Given the description of an element on the screen output the (x, y) to click on. 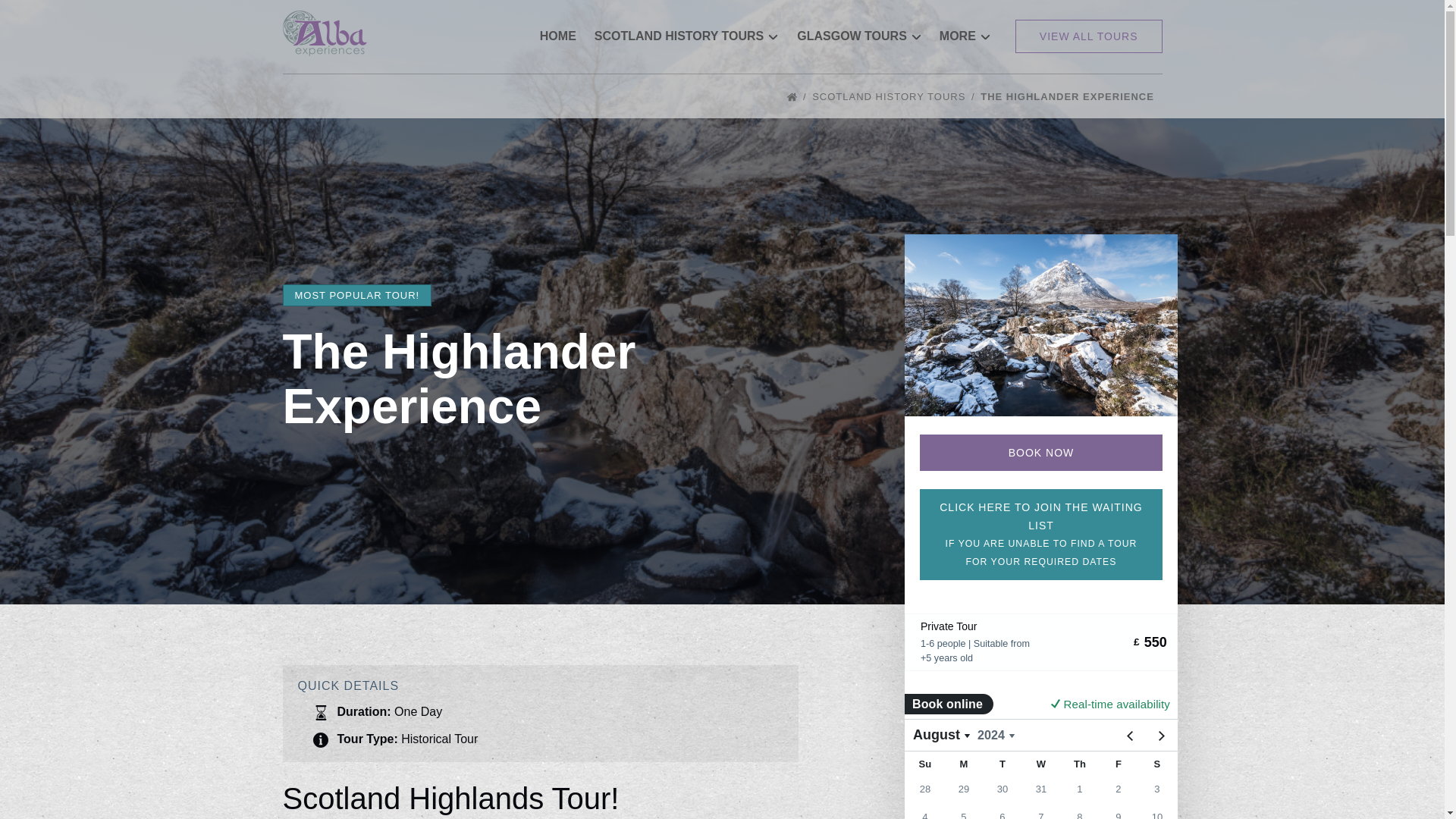
MORE (965, 35)
Hour Glass (320, 712)
THE HIGHLANDER EXPERIENCE (1070, 96)
GLASGOW TOURS (859, 35)
Open Glasgow Tours Menu (855, 26)
Skip to primary navigation (77, 16)
Open More Menu (968, 32)
Info (320, 739)
HOME (558, 35)
